Given the description of an element on the screen output the (x, y) to click on. 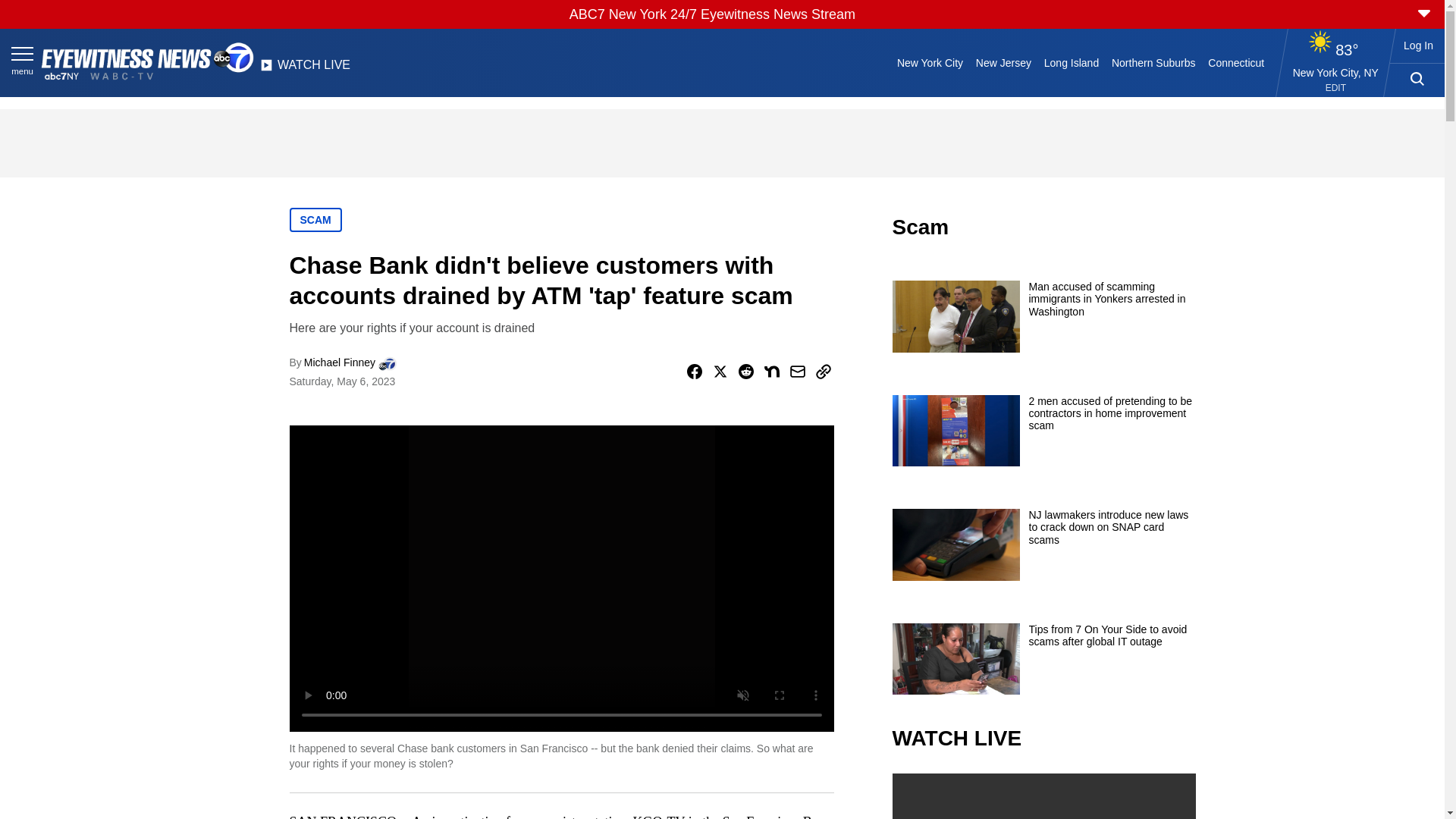
video.title (1043, 796)
New York City, NY (1335, 72)
Long Island (1070, 62)
New Jersey (1002, 62)
EDIT (1334, 87)
New York City (930, 62)
Connecticut (1236, 62)
Northern Suburbs (1153, 62)
WATCH LIVE (305, 69)
